Given the description of an element on the screen output the (x, y) to click on. 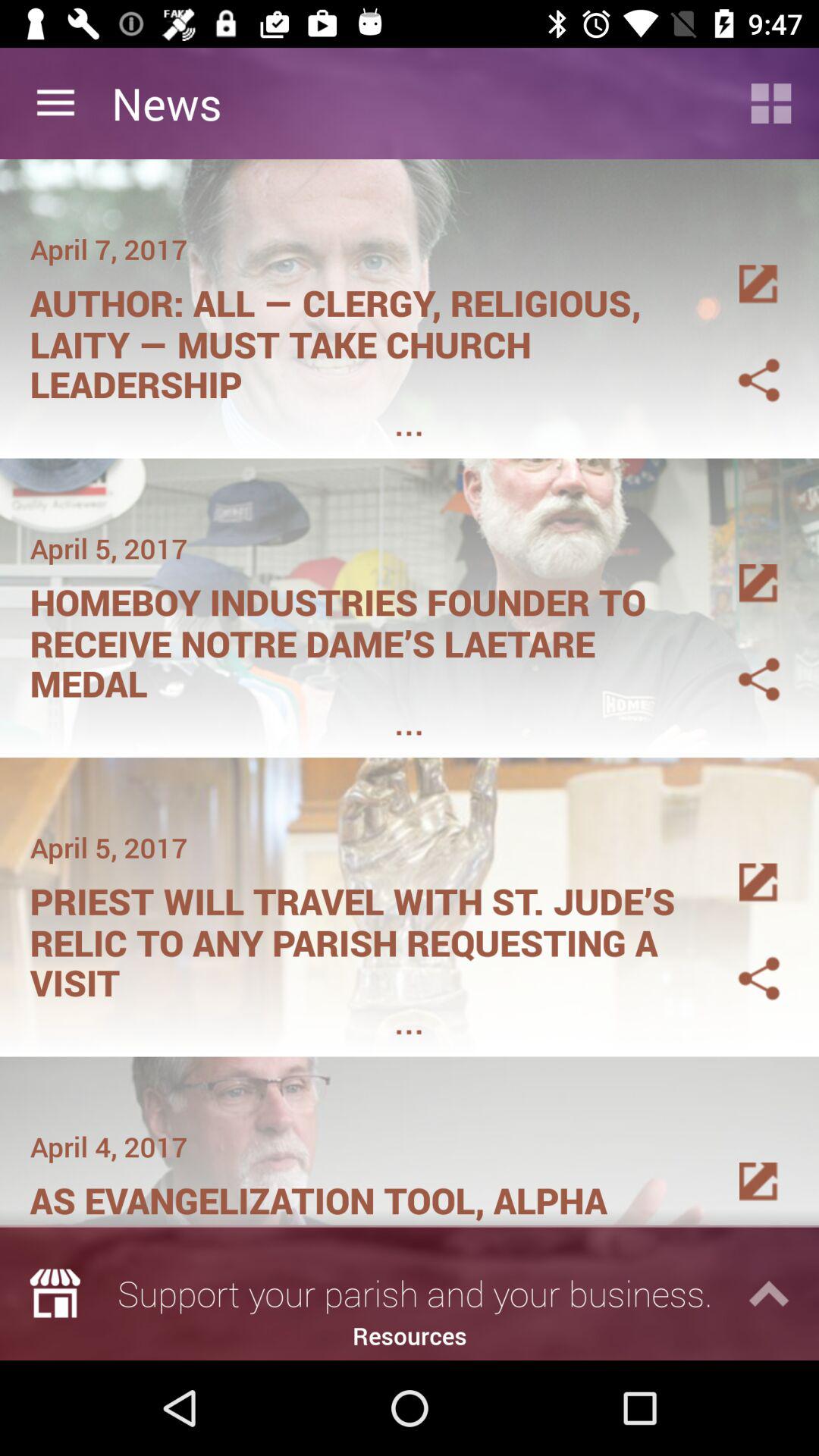
click as evangelization tool (361, 1195)
